Given the description of an element on the screen output the (x, y) to click on. 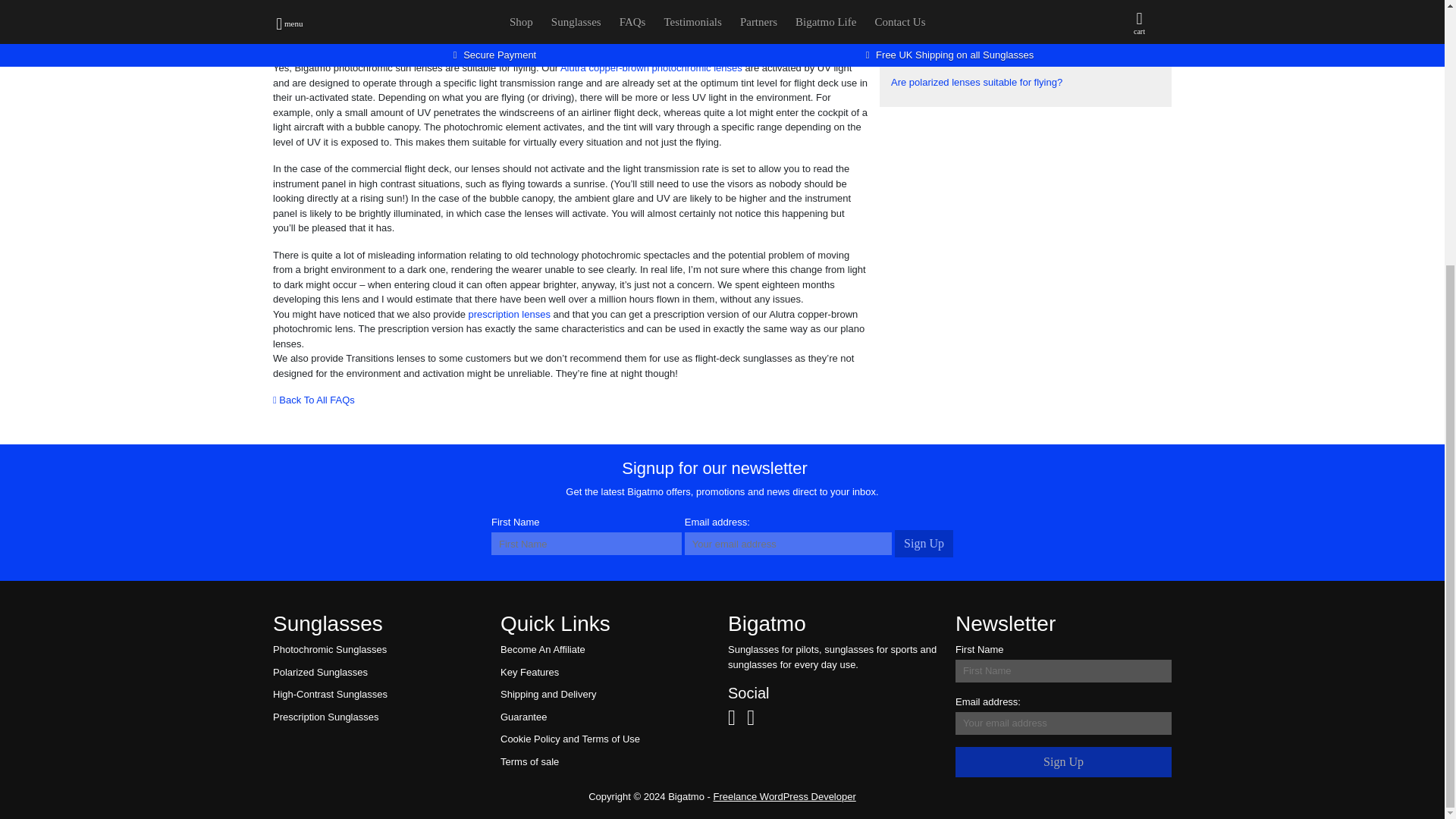
Sign up (924, 543)
Sign up (1063, 761)
